Given the description of an element on the screen output the (x, y) to click on. 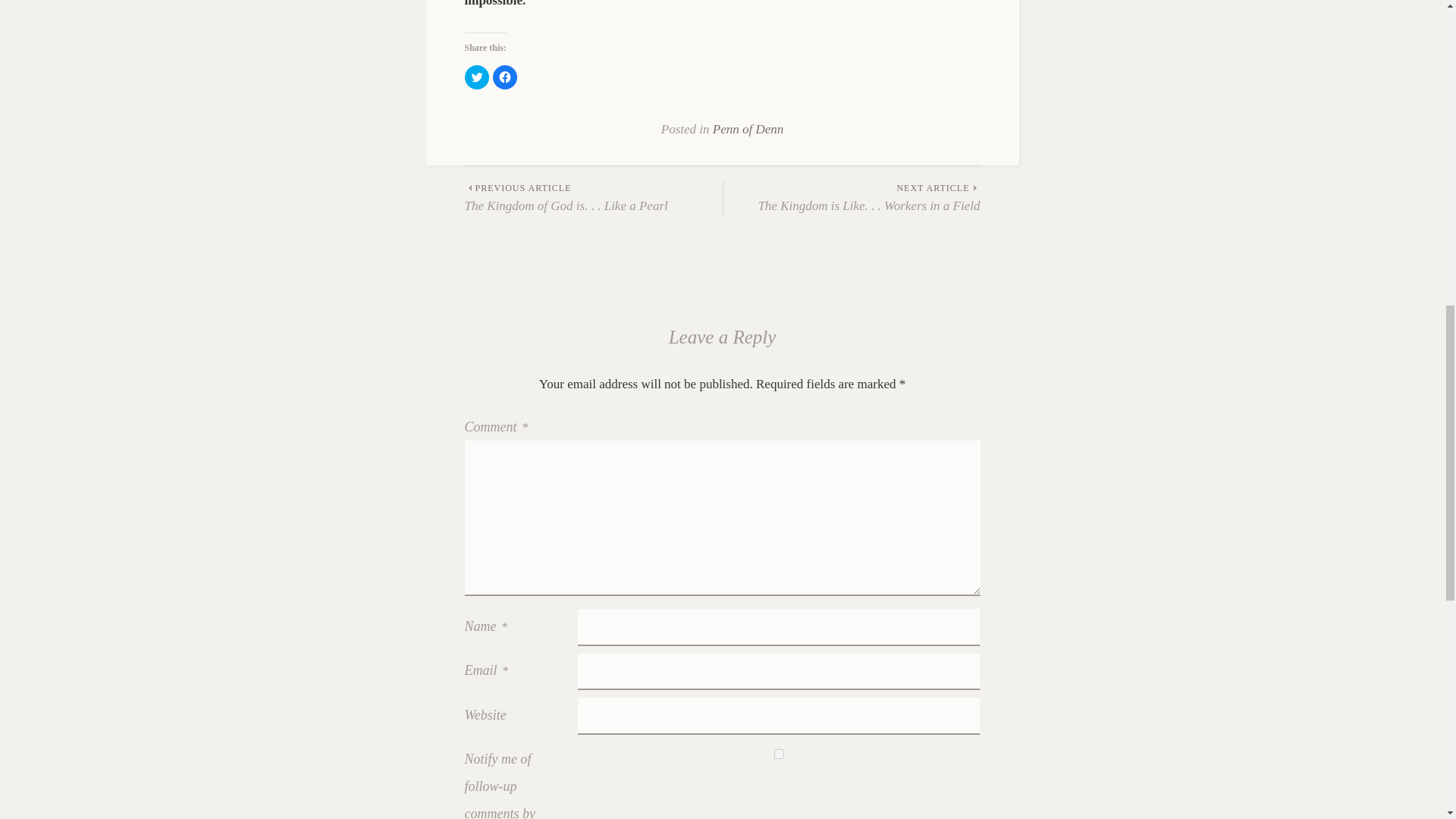
Click to share on Twitter (851, 198)
Click to share on Facebook (593, 198)
subscribe (475, 77)
Penn of Denn (504, 77)
